Given the description of an element on the screen output the (x, y) to click on. 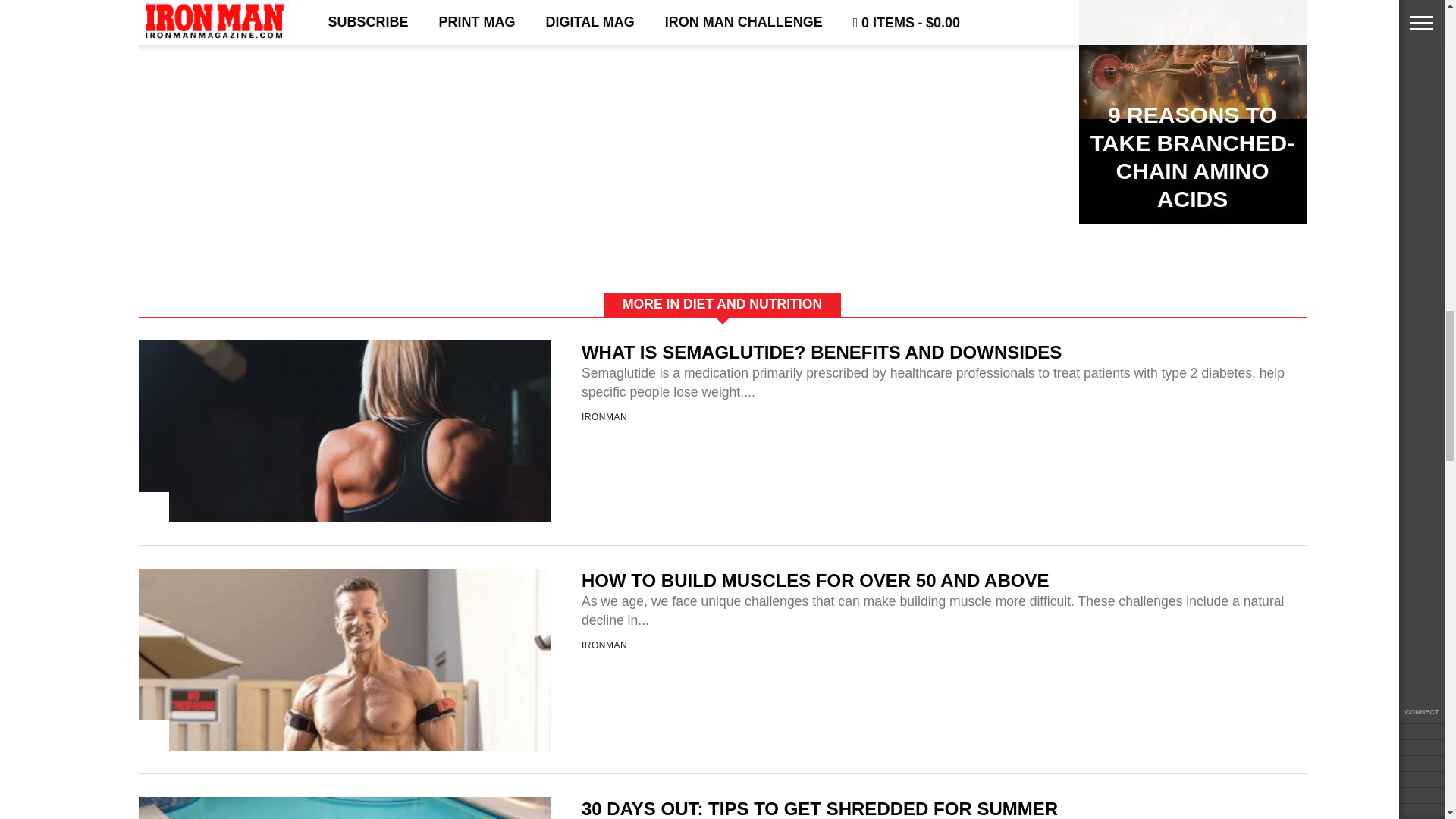
How To Build Muscles for Over 50 and Above (344, 811)
What is Semaglutide? Benefits and Downsides (344, 583)
